Given the description of an element on the screen output the (x, y) to click on. 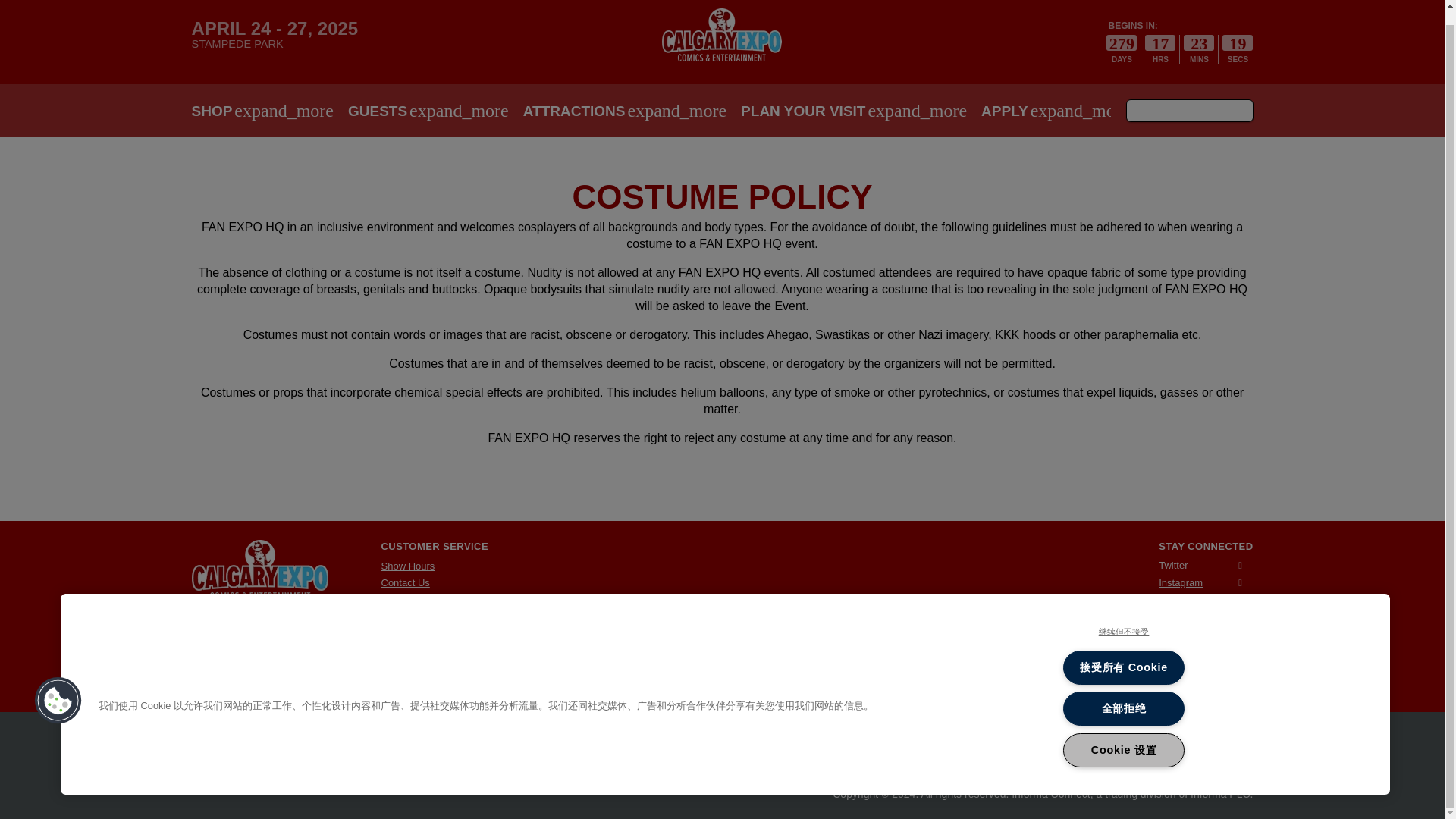
Cookies Button (57, 686)
